Given the description of an element on the screen output the (x, y) to click on. 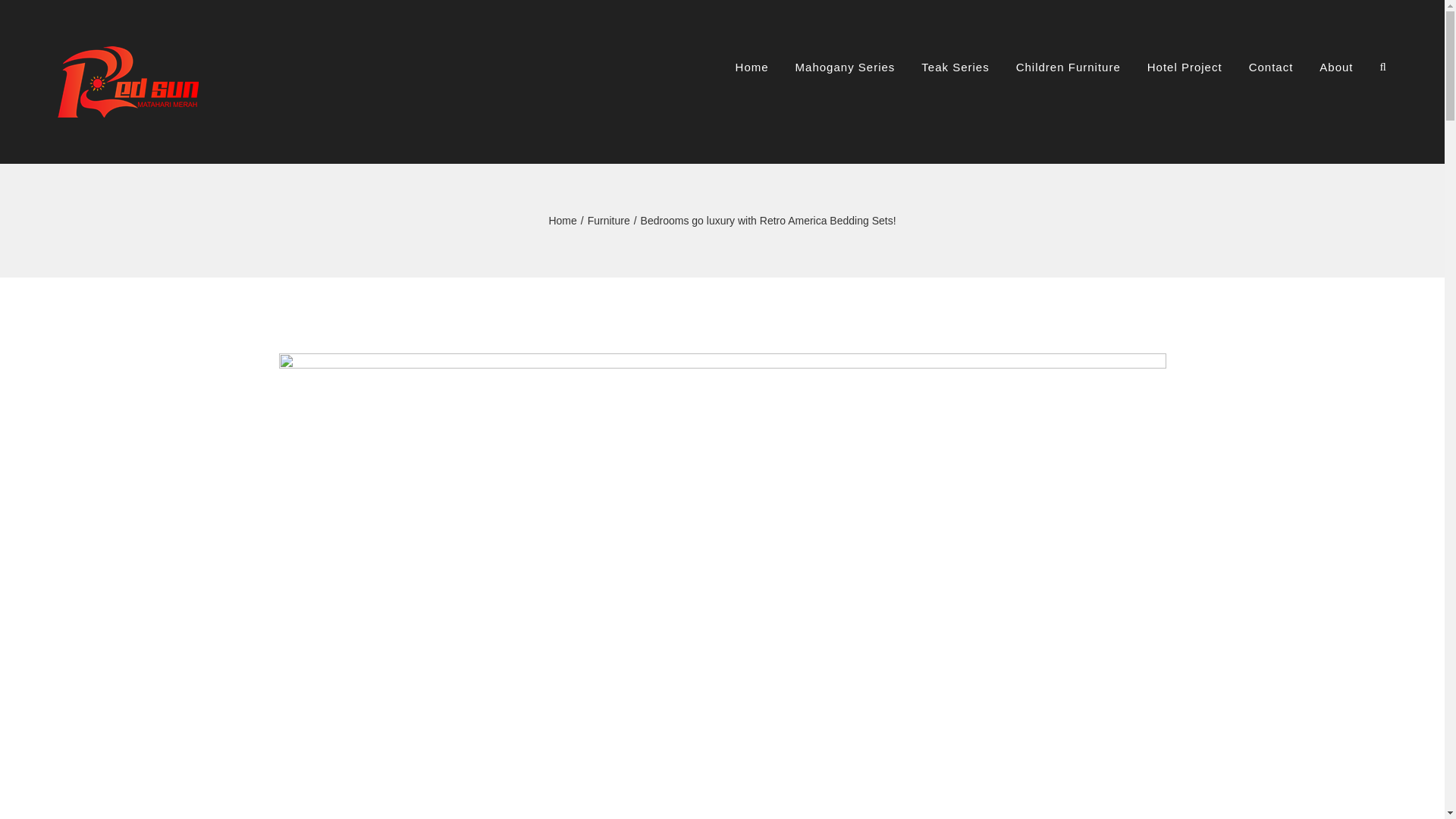
Home (562, 220)
Hotel Project (1185, 66)
Mahogany Series (844, 66)
Children Furniture (1068, 66)
Furniture (609, 220)
Teak Series (954, 66)
